Given the description of an element on the screen output the (x, y) to click on. 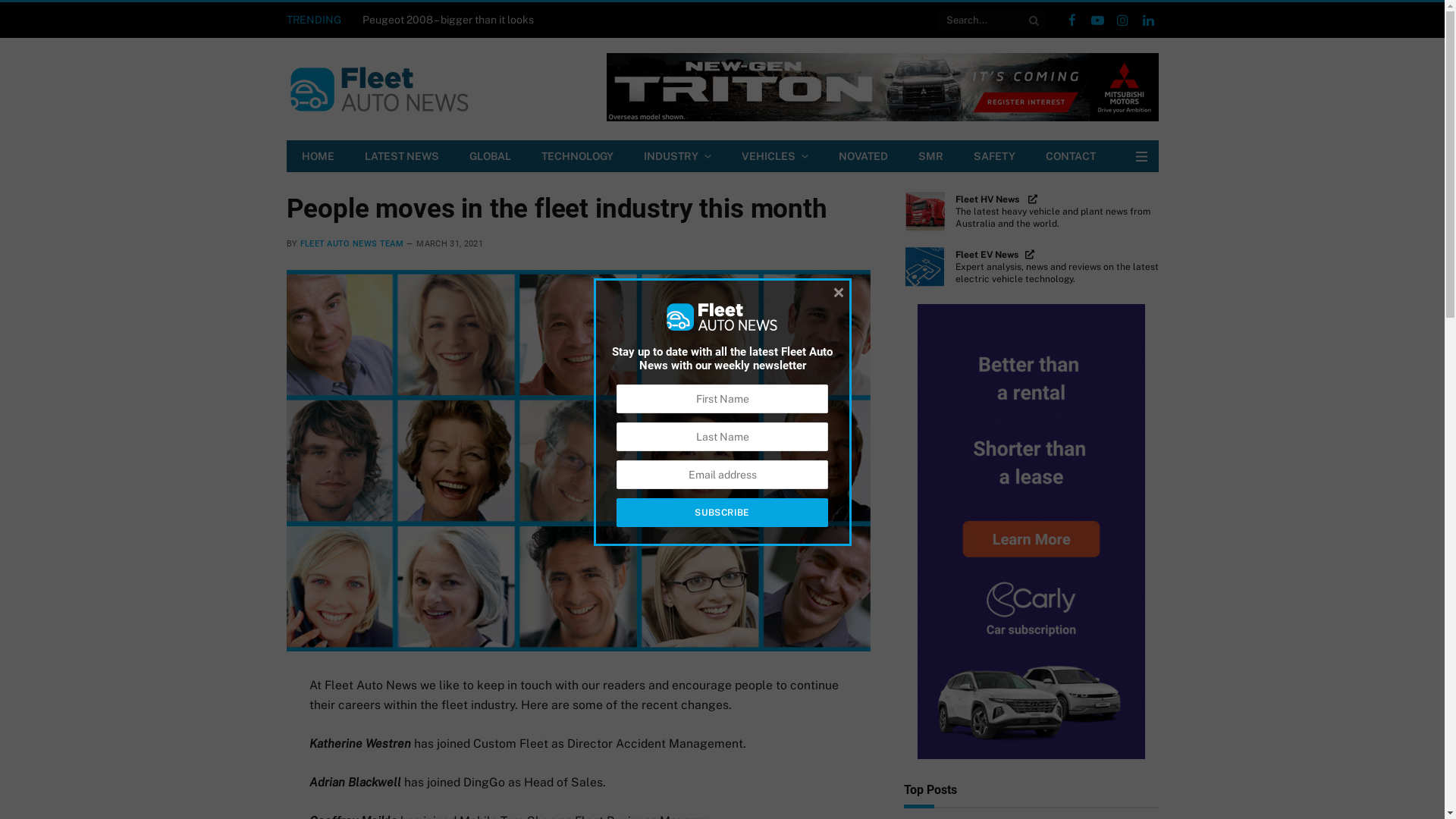
Subscribe Element type: text (722, 512)
Instagram Element type: text (1122, 20)
VEHICLES Element type: text (774, 156)
LATEST NEWS Element type: text (400, 156)
People moves in the fleet industry this month Element type: hover (578, 460)
YouTube Element type: text (1097, 20)
SMR Element type: text (929, 156)
Facebook Element type: text (1072, 20)
FLEET AUTO NEWS TEAM Element type: text (352, 243)
CONTACT Element type: text (1069, 156)
TECHNOLOGY Element type: text (577, 156)
HOME Element type: text (317, 156)
INDUSTRY Element type: text (676, 156)
Fleet Auto News Element type: hover (379, 89)
GLOBAL Element type: text (489, 156)
NOVATED Element type: text (863, 156)
SAFETY Element type: text (994, 156)
LinkedIn Element type: text (1147, 20)
